Given the description of an element on the screen output the (x, y) to click on. 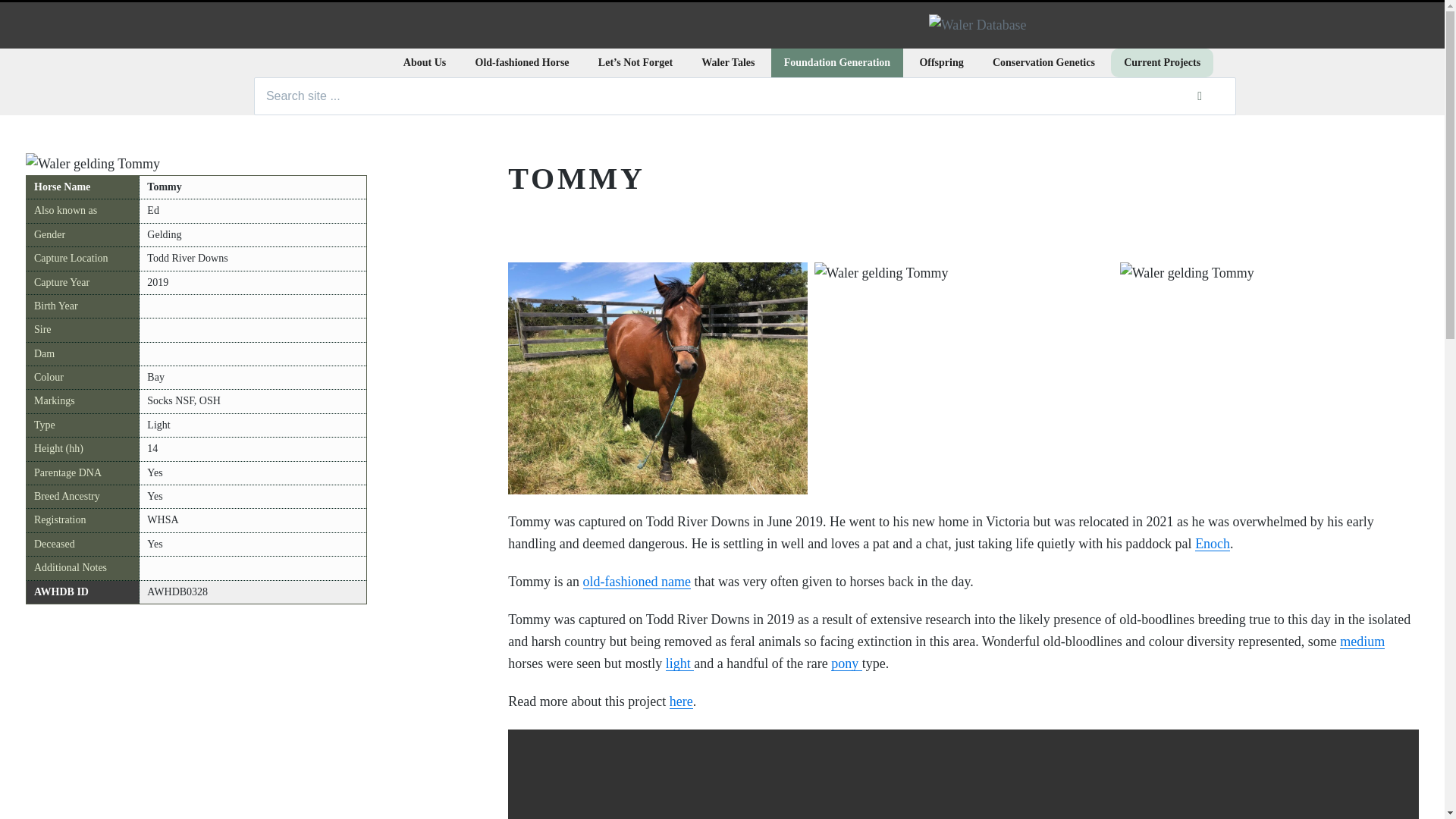
About Us (424, 62)
here (681, 701)
light (679, 663)
Enoch (1212, 543)
Conservation Genetics (1043, 62)
Current Projects (1161, 62)
medium (1361, 641)
old-fashioned name (636, 581)
Old-fashioned Horse (522, 62)
Foundation Generation (836, 62)
Waler Tales (727, 62)
pony (846, 663)
Offspring (940, 62)
